Given the description of an element on the screen output the (x, y) to click on. 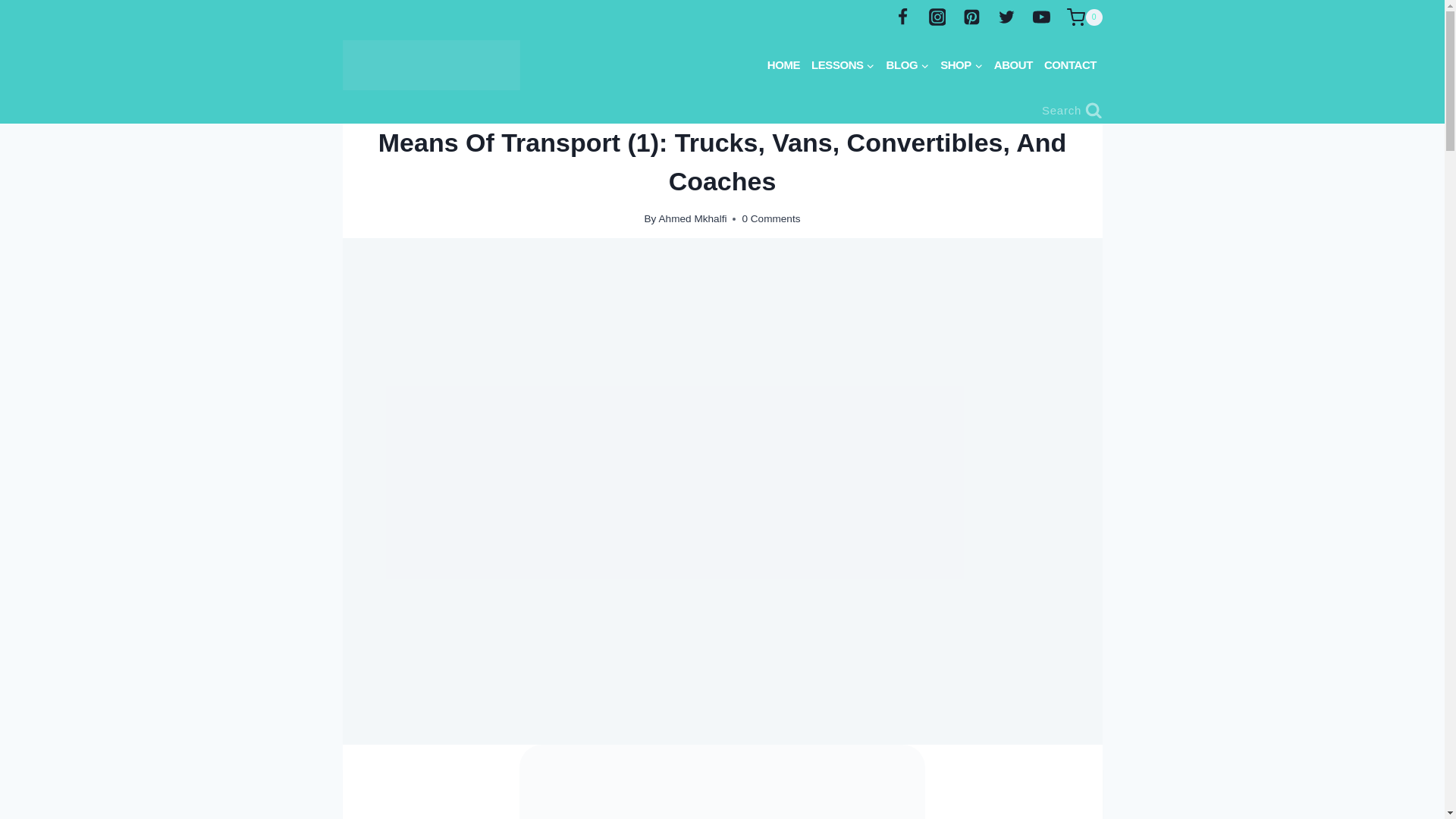
HOME (783, 64)
BLOG (907, 64)
0 Comments (770, 218)
ABOUT (1013, 64)
SHOP (961, 64)
0 (1084, 17)
CONTACT (1070, 64)
LESSONS (843, 64)
0 Comments (770, 218)
Search (1072, 110)
